Given the description of an element on the screen output the (x, y) to click on. 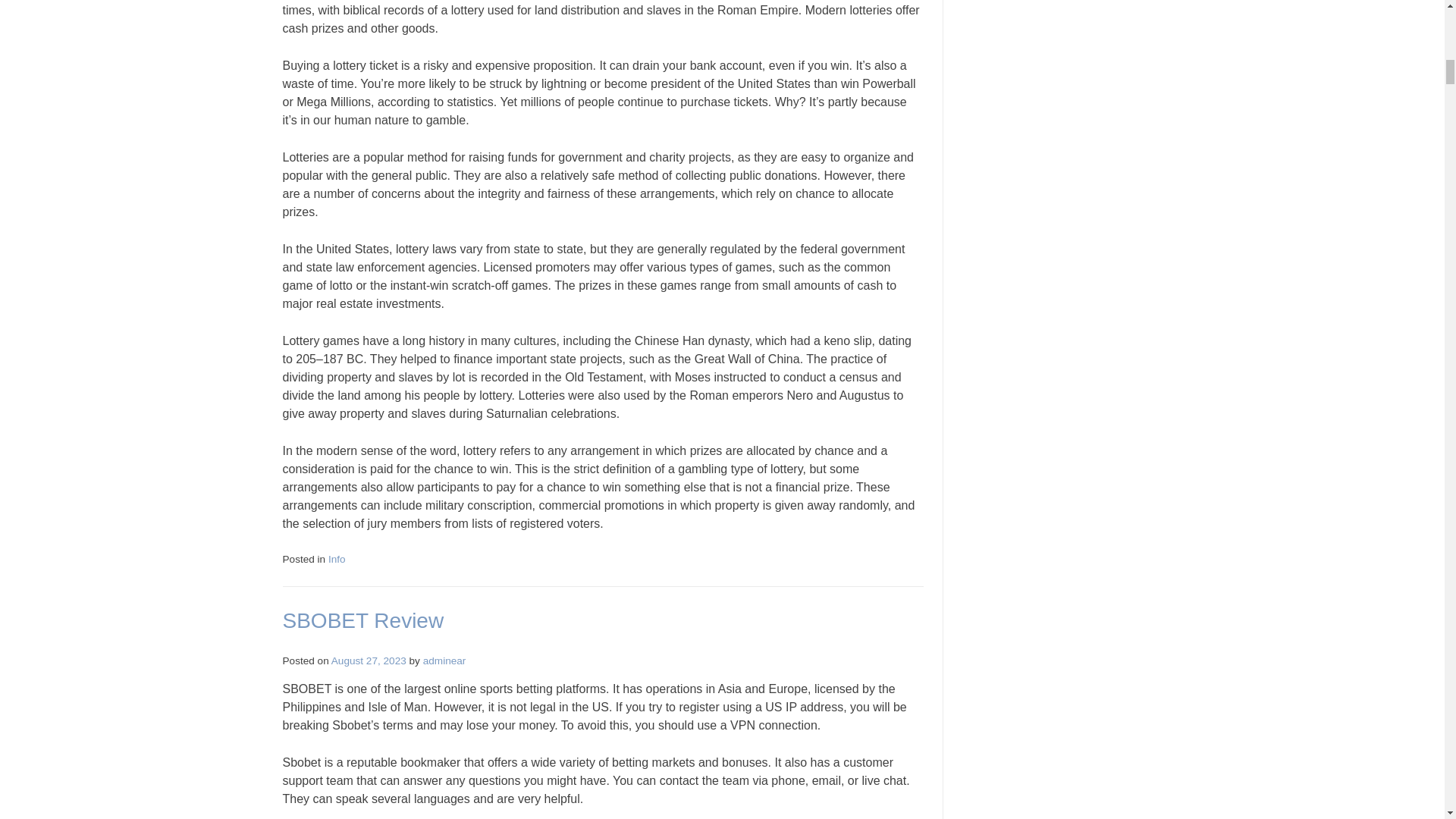
Info (337, 559)
August 27, 2023 (368, 660)
adminear (444, 660)
SBOBET Review (363, 620)
